Given the description of an element on the screen output the (x, y) to click on. 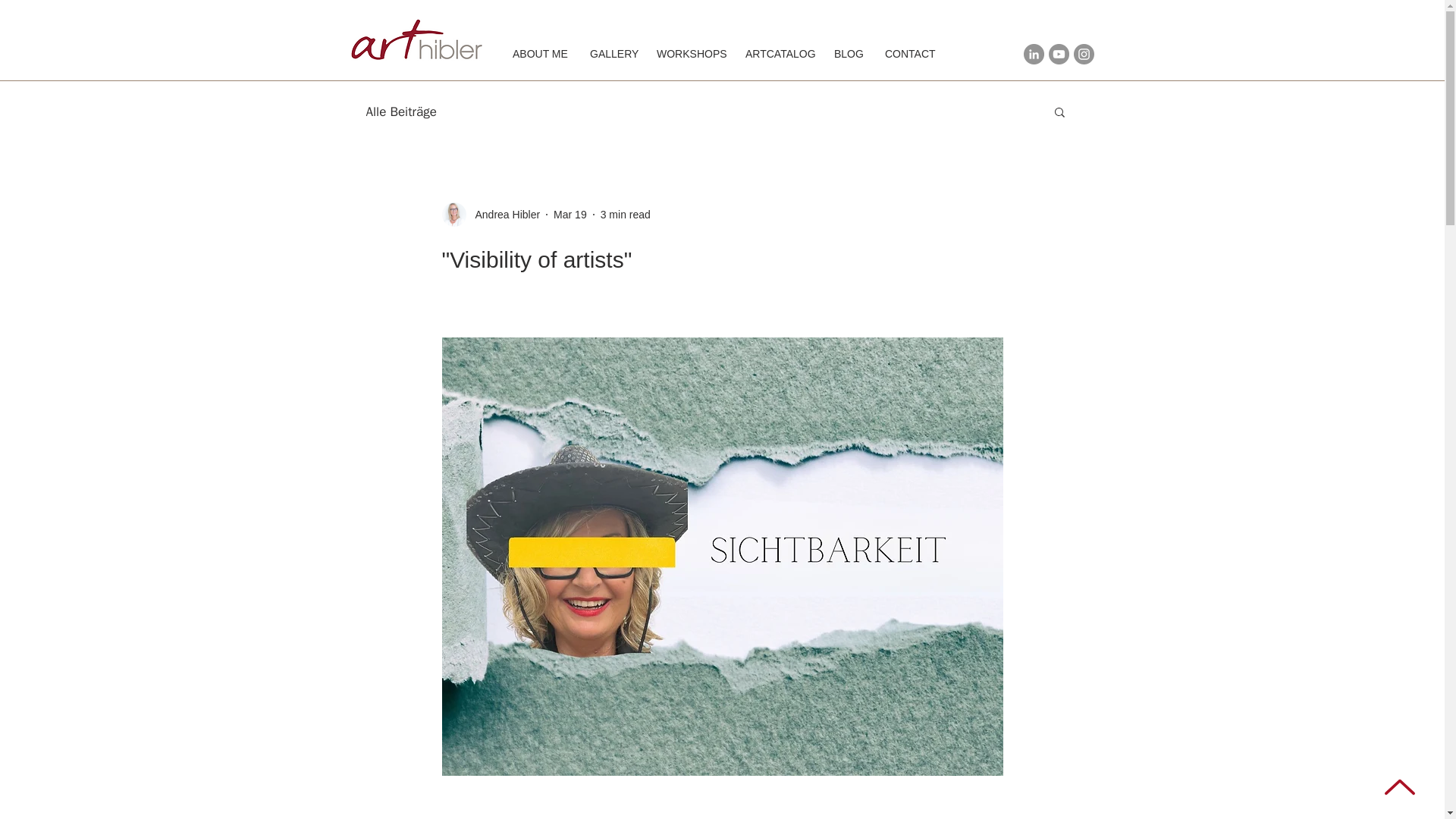
3 min read (624, 214)
Andrea Hibler (502, 213)
CONTACT (908, 54)
Mar 19 (569, 214)
BLOG (847, 54)
ABOUT ME (539, 54)
WORKSHOPS (689, 54)
Andrea Hibler (490, 214)
GALLERY (611, 54)
ARTCATALOG (777, 54)
